Given the description of an element on the screen output the (x, y) to click on. 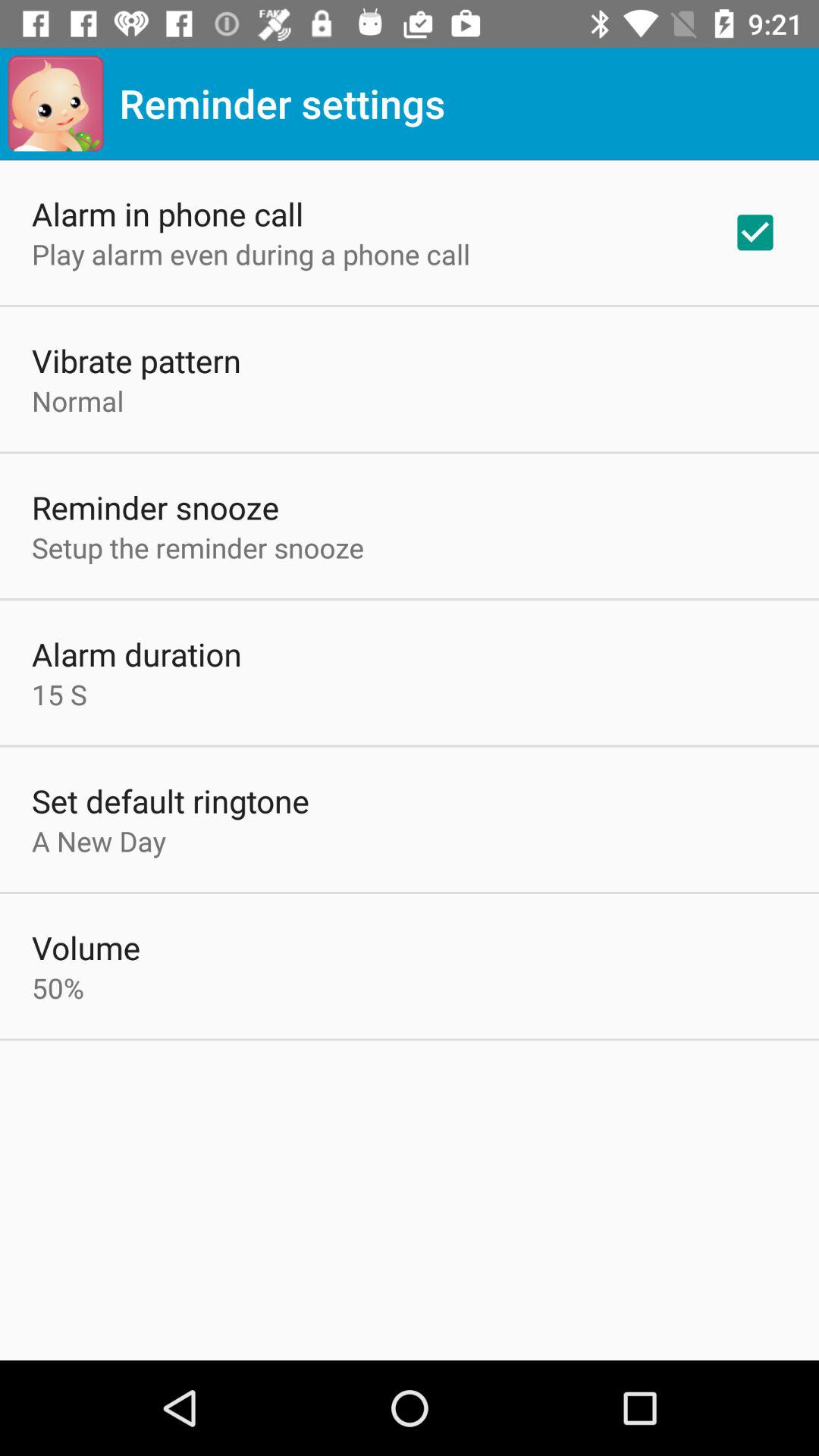
swipe until alarm duration item (136, 653)
